Given the description of an element on the screen output the (x, y) to click on. 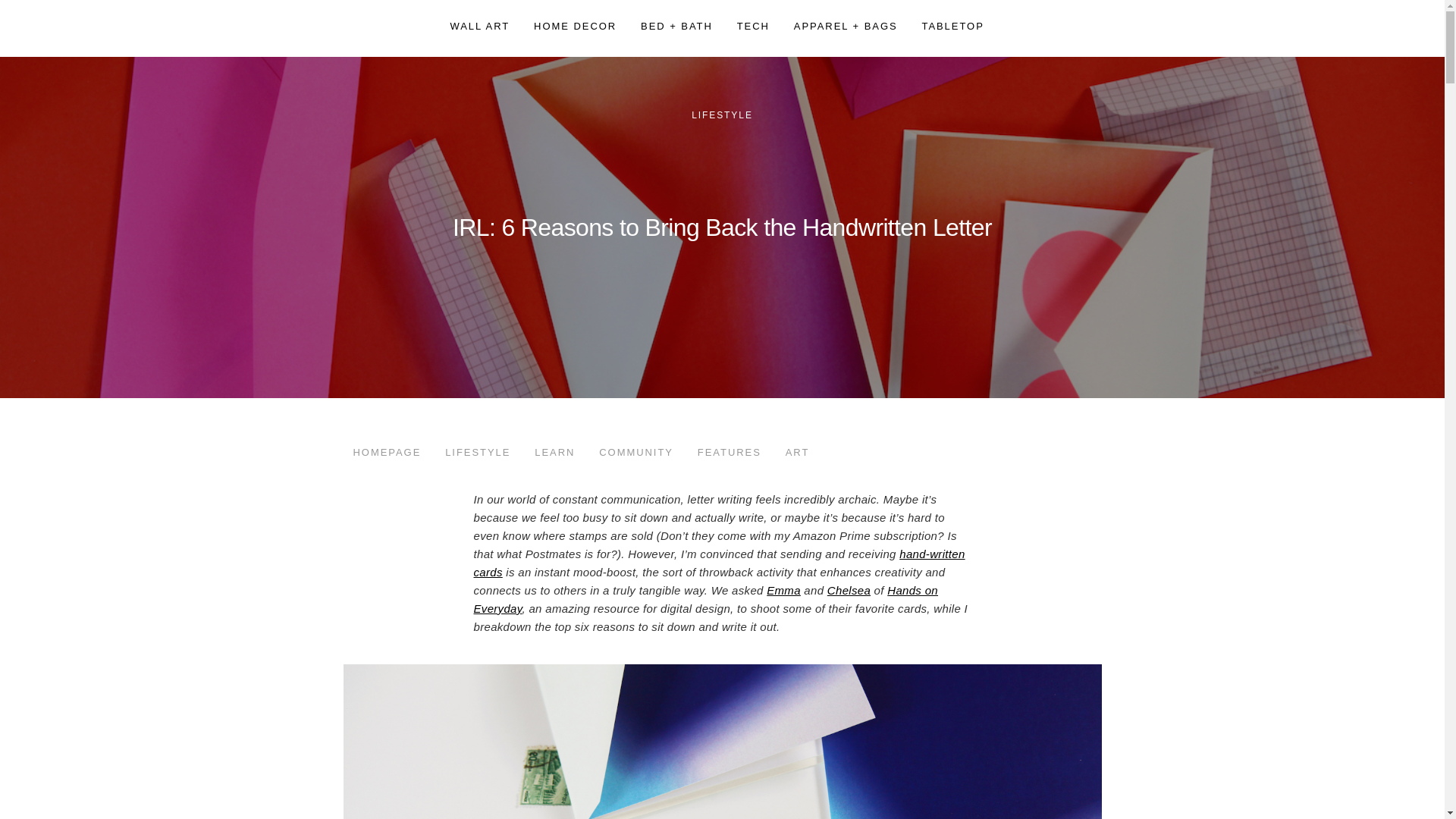
LIFESTYLE (478, 452)
hand-written cards (718, 562)
TABLETOP (952, 26)
Hands on Everyday (705, 599)
FEATURES (729, 452)
Emma (783, 590)
LEARN (554, 452)
WALL ART (480, 26)
HOME DECOR (574, 26)
HOMEPAGE (387, 452)
ART (796, 452)
Chelsea (848, 590)
Society6 Blog (387, 28)
COMMUNITY (636, 452)
TECH (753, 26)
